Given the description of an element on the screen output the (x, y) to click on. 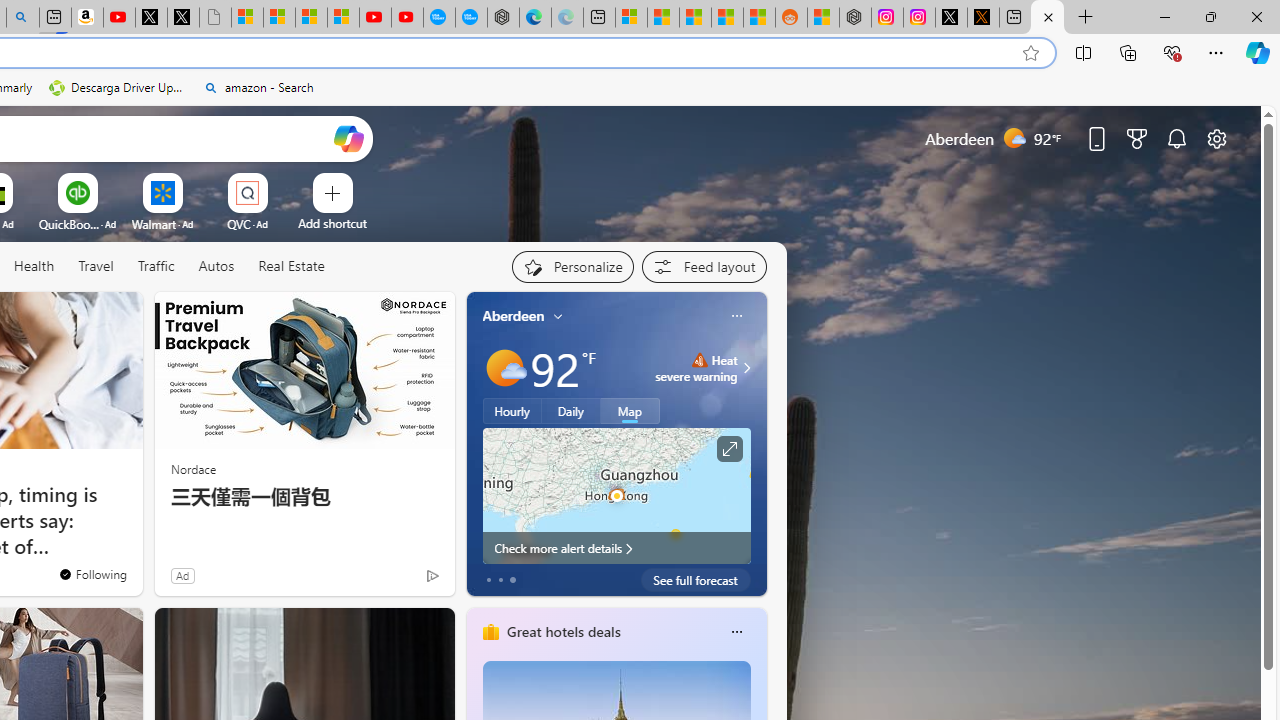
New split screen (54, 17)
Shanghai, China Weather trends | Microsoft Weather (758, 17)
YouTube Kids - An App Created for Kids to Explore Content (407, 17)
Autos (216, 267)
Daily (571, 411)
tab-1 (500, 579)
hotels-header-icon (490, 632)
